Given the description of an element on the screen output the (x, y) to click on. 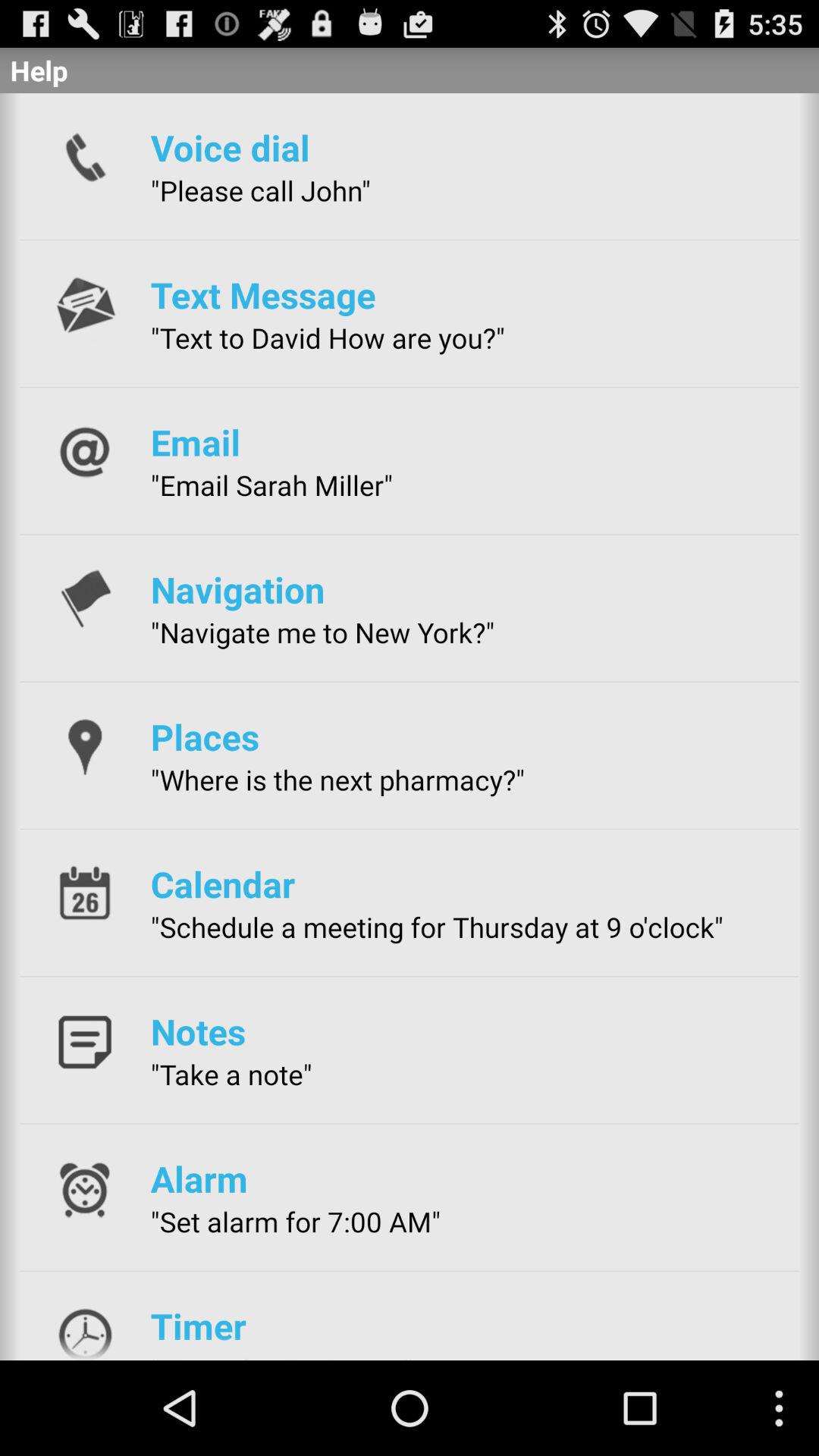
press the where is the item (337, 779)
